Given the description of an element on the screen output the (x, y) to click on. 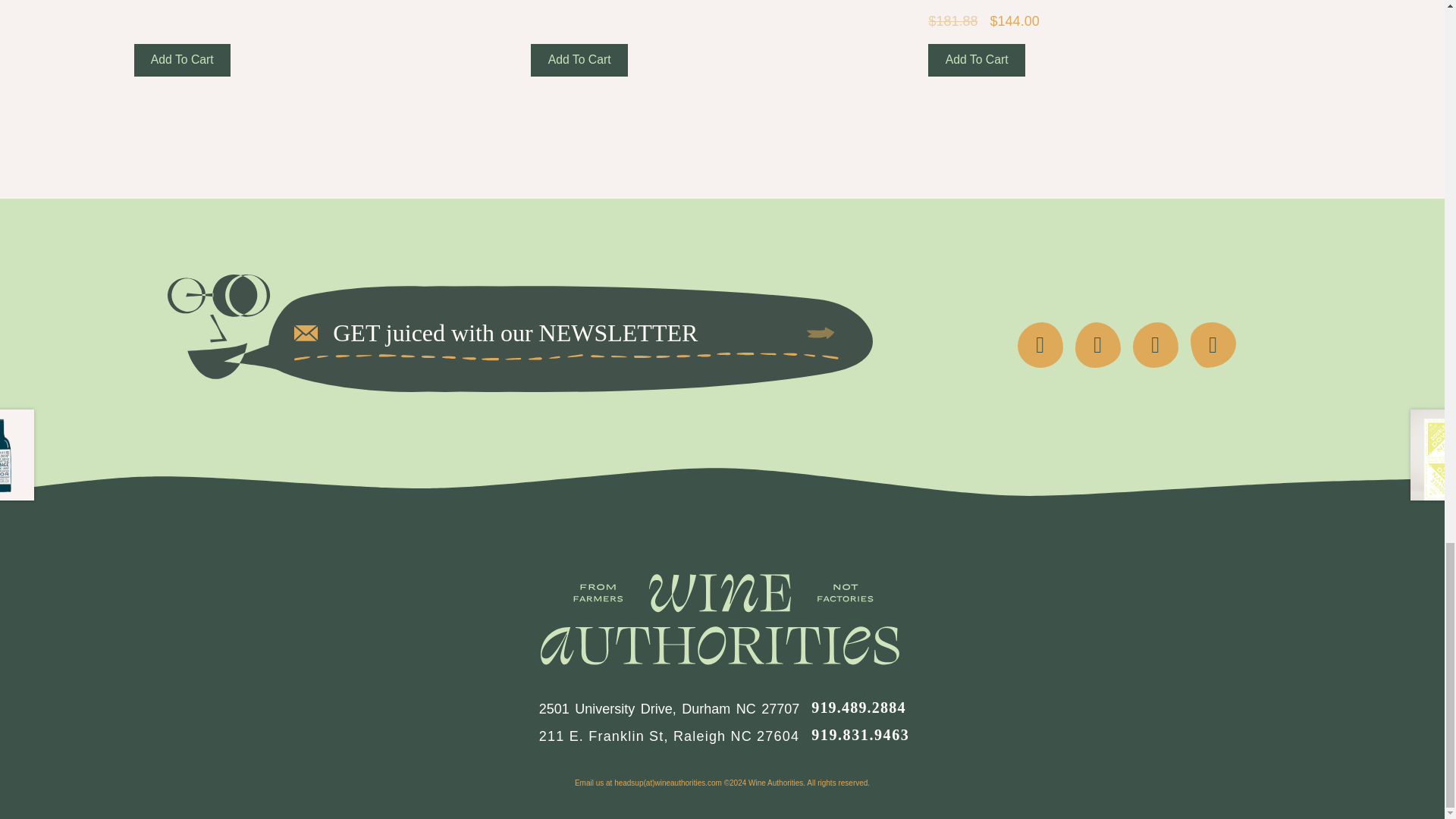
Add To Cart (976, 60)
Follow Us On Instagram (1154, 344)
TikTok (1213, 344)
Submit (820, 332)
Facebook (1039, 344)
Follow Us On TikTok (1213, 344)
Add To Cart (579, 60)
Follow Us On Facebook (1039, 344)
919.489.2884 (857, 707)
Instagram (1154, 344)
2501 University Drive, Durham NC 27707 (668, 708)
Follow Us On Twitter (1098, 344)
Twitter (1098, 344)
Add To Cart (181, 60)
